Given the description of an element on the screen output the (x, y) to click on. 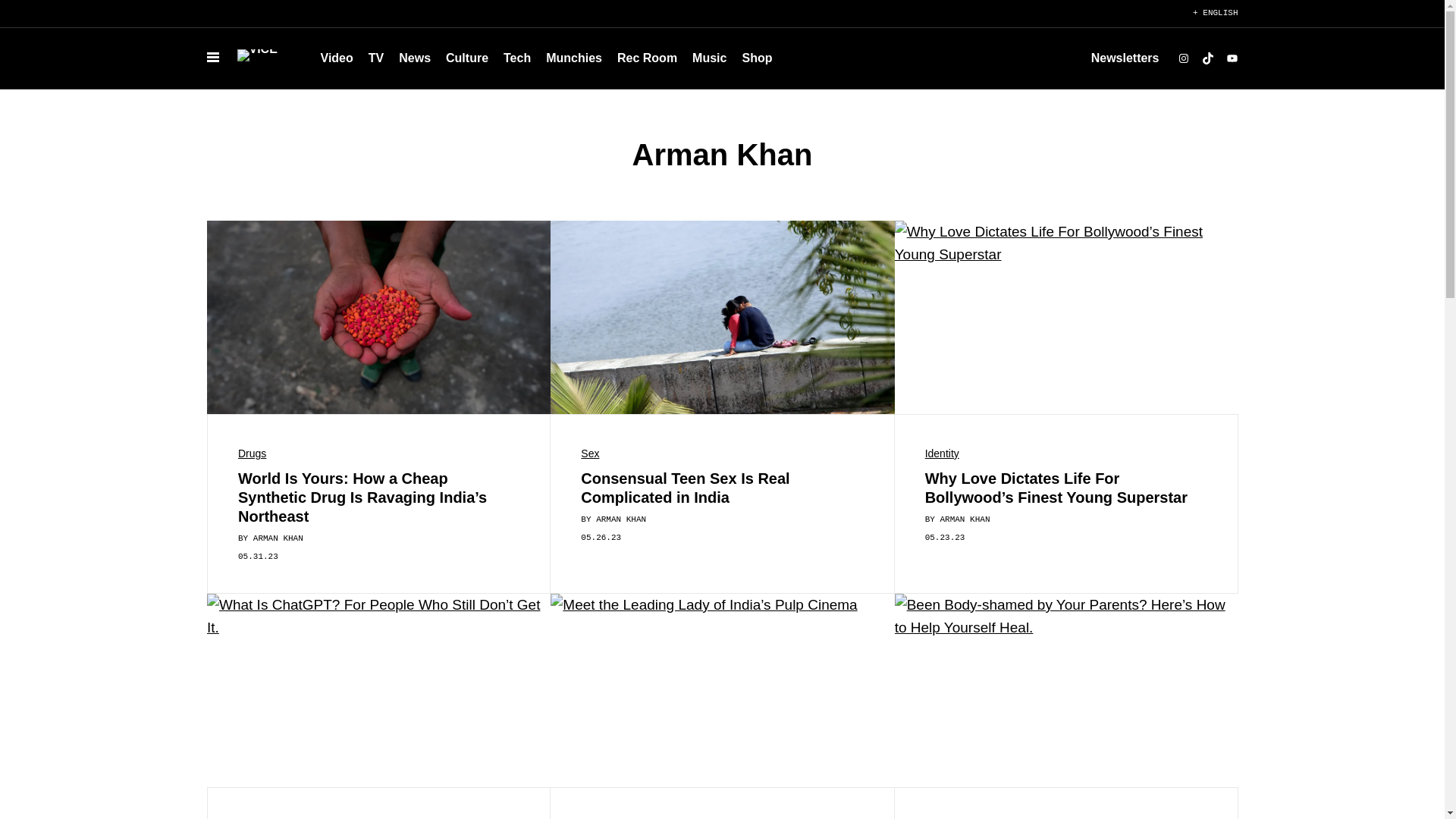
TikTok (1206, 58)
Music (708, 58)
TV (376, 58)
Rec Room (647, 58)
Open Menu (211, 58)
Posts by Arman Khan (964, 519)
Culture (467, 58)
Posts by Arman Khan (620, 519)
Tech (517, 58)
Munchies (574, 58)
